Given the description of an element on the screen output the (x, y) to click on. 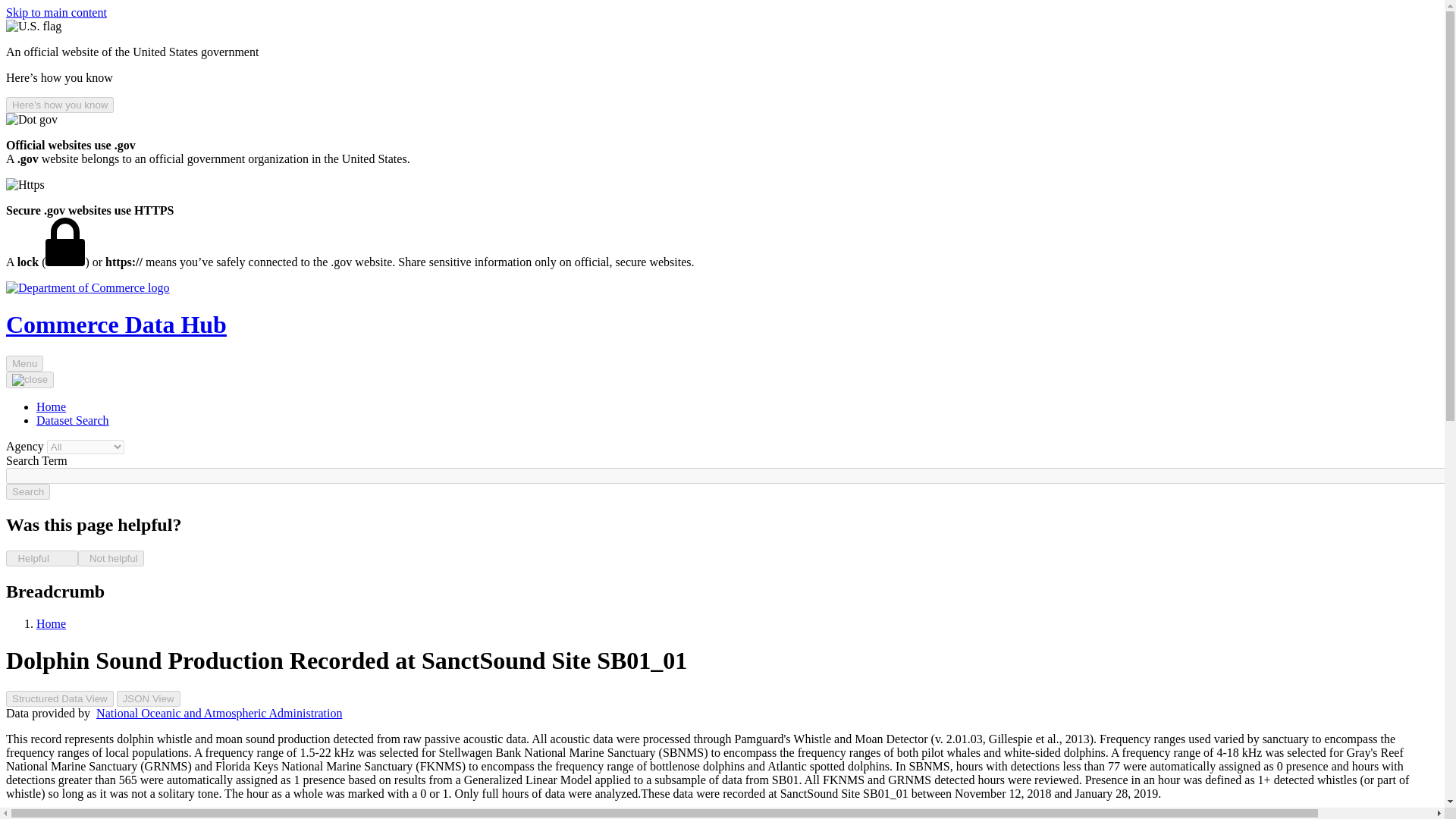
Menu (24, 363)
Commerce Data Hub (116, 324)
Commerce Data Hub (116, 324)
Home (50, 406)
Search (27, 491)
Home (87, 287)
Dataset Search (72, 420)
Skip to main content (55, 11)
Home (50, 623)
Structured Data View (59, 698)
